Given the description of an element on the screen output the (x, y) to click on. 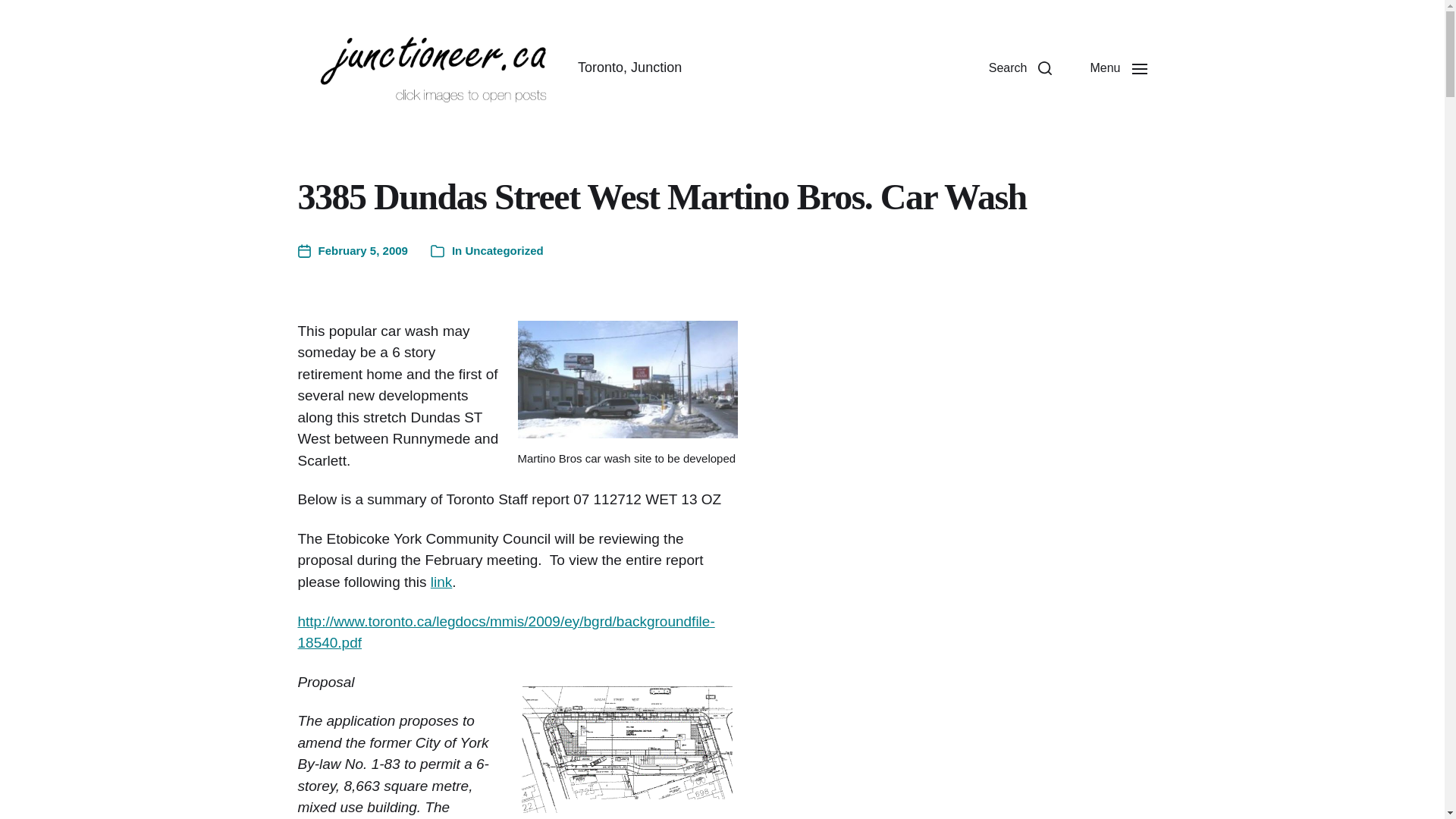
image005 (626, 744)
Menu (1118, 68)
link (441, 581)
Search (1020, 68)
dundas-car-wash (626, 378)
February 5, 2009 (352, 251)
Uncategorized (503, 250)
